Given the description of an element on the screen output the (x, y) to click on. 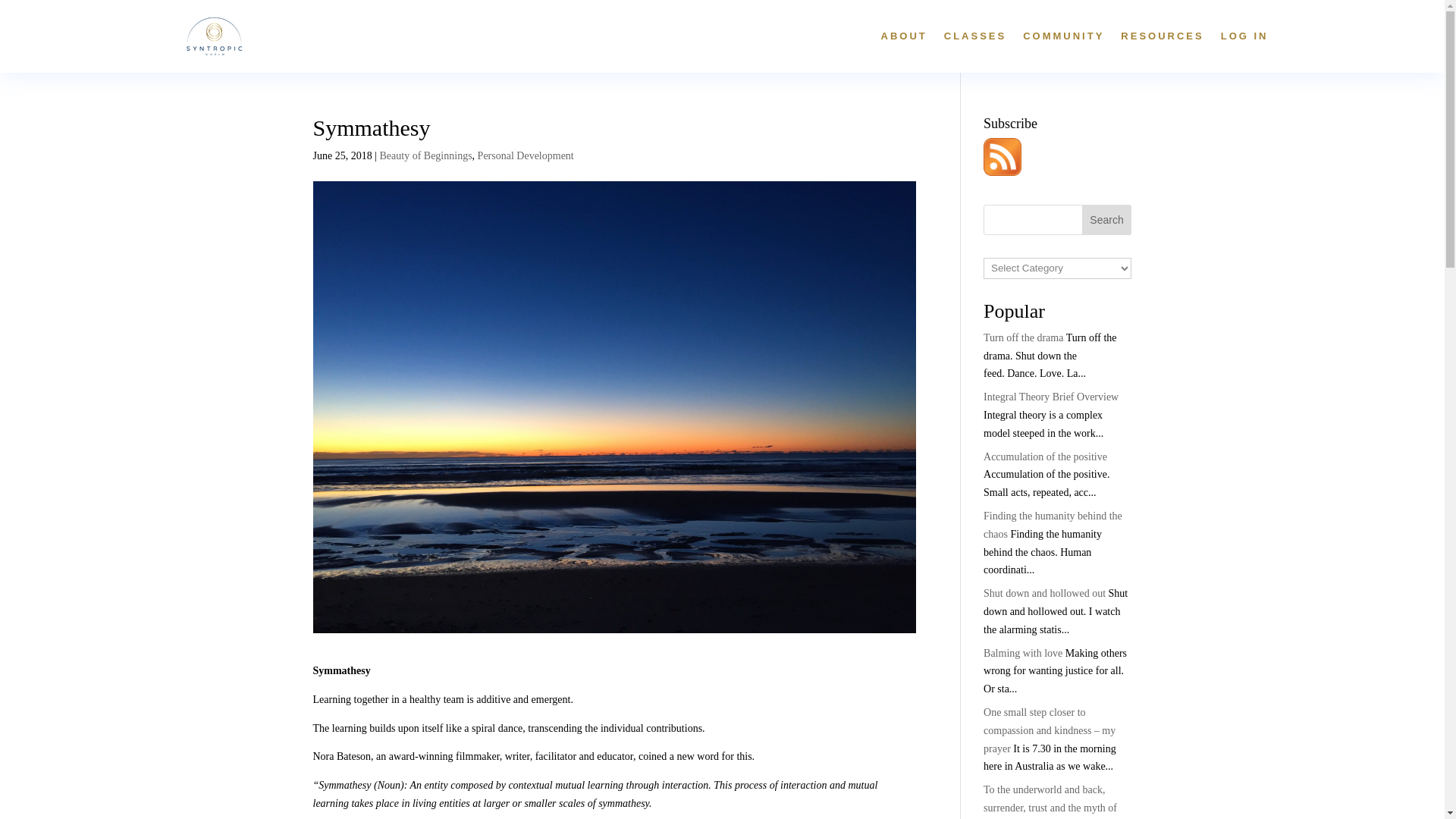
CLASSES (974, 36)
Search (1106, 219)
COMMUNITY (1063, 36)
RESOURCES (1162, 36)
